Given the description of an element on the screen output the (x, y) to click on. 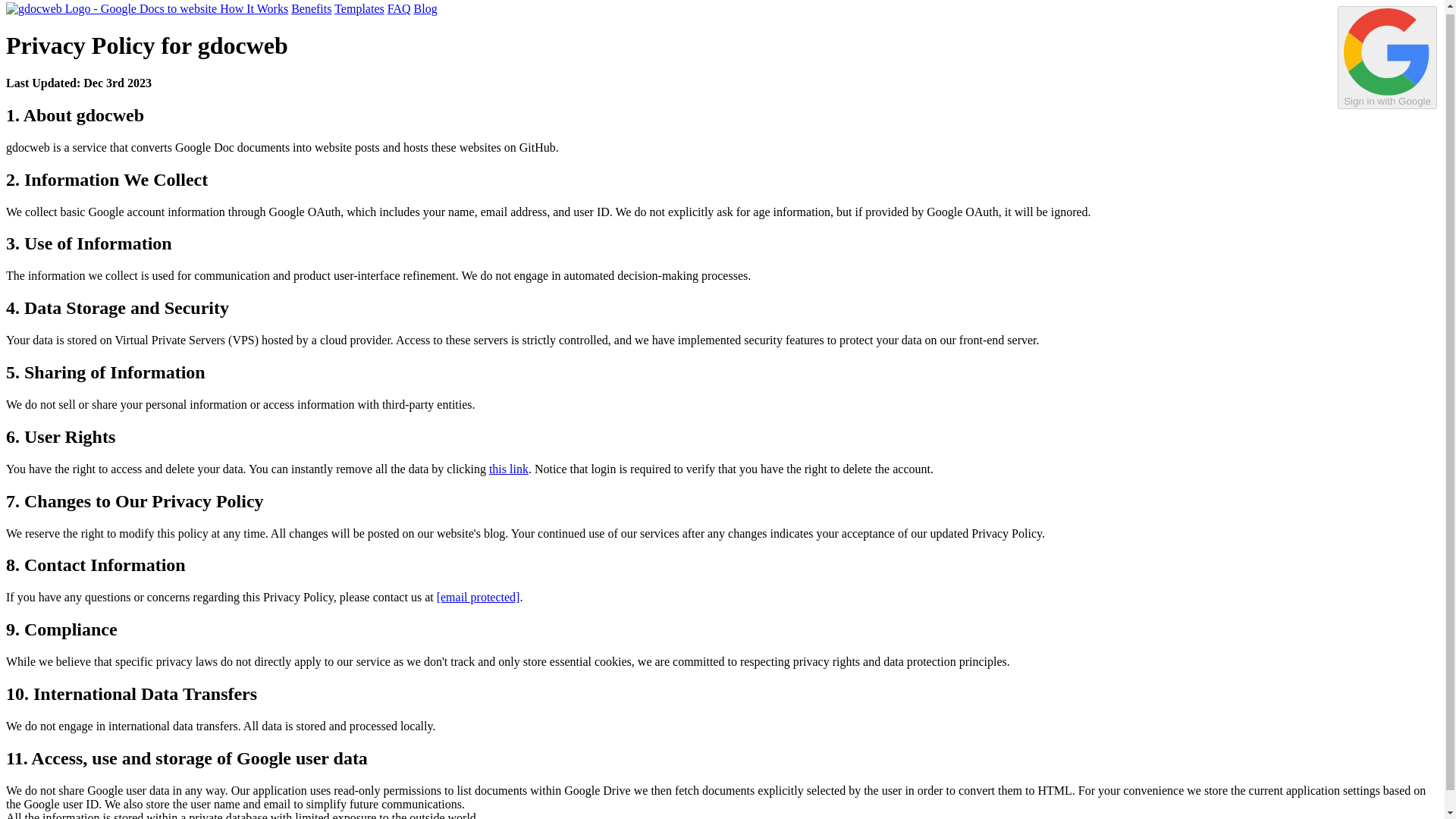
How It Works (253, 8)
Benefits (311, 8)
Blog (425, 8)
this link (508, 468)
FAQ (398, 8)
Templates (359, 8)
